Given the description of an element on the screen output the (x, y) to click on. 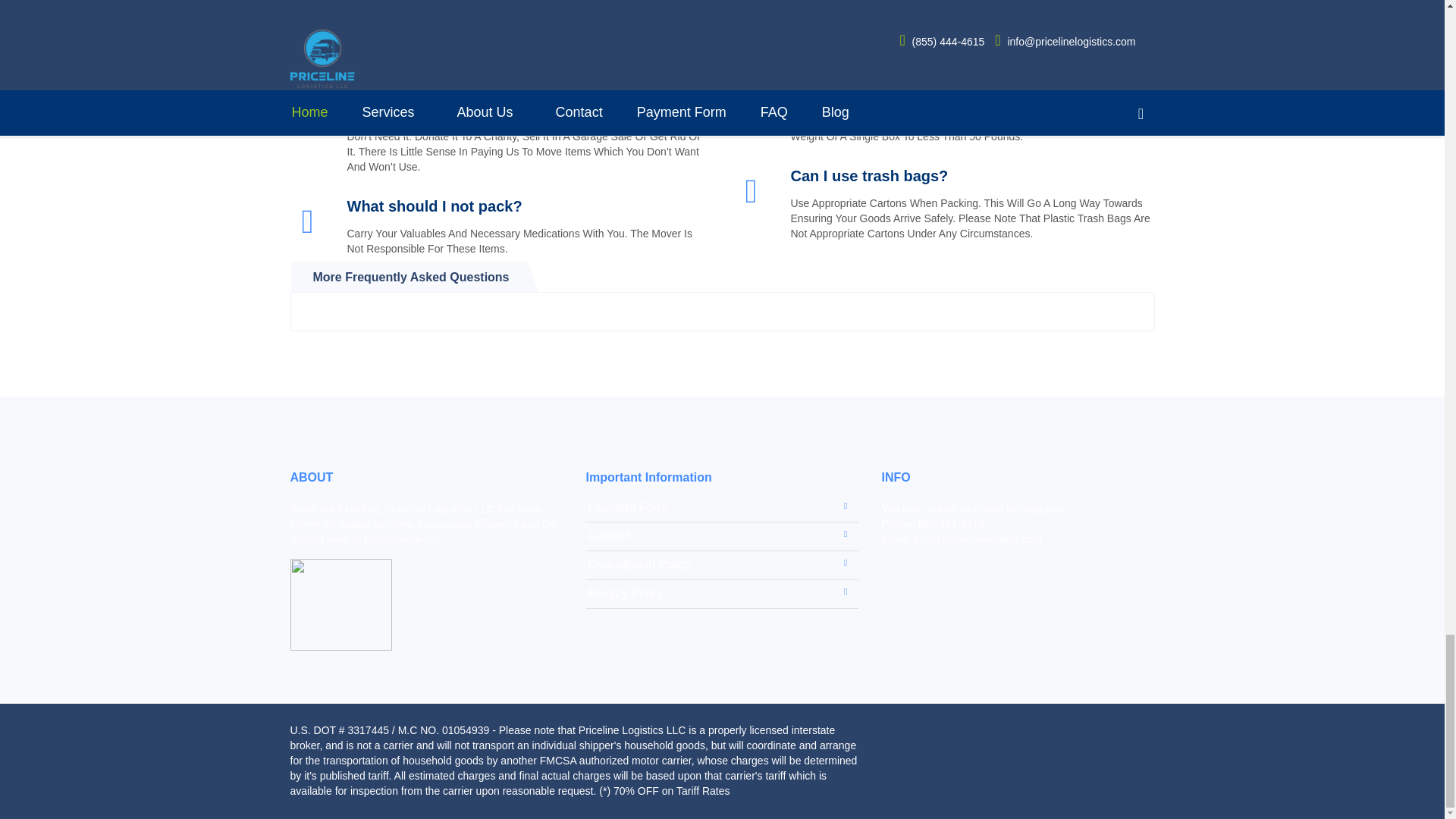
Payment Form (722, 508)
Cancellation Policy (722, 565)
Privacy Policy (722, 593)
More Frequently Asked Questions (411, 275)
Contact (722, 536)
